Given the description of an element on the screen output the (x, y) to click on. 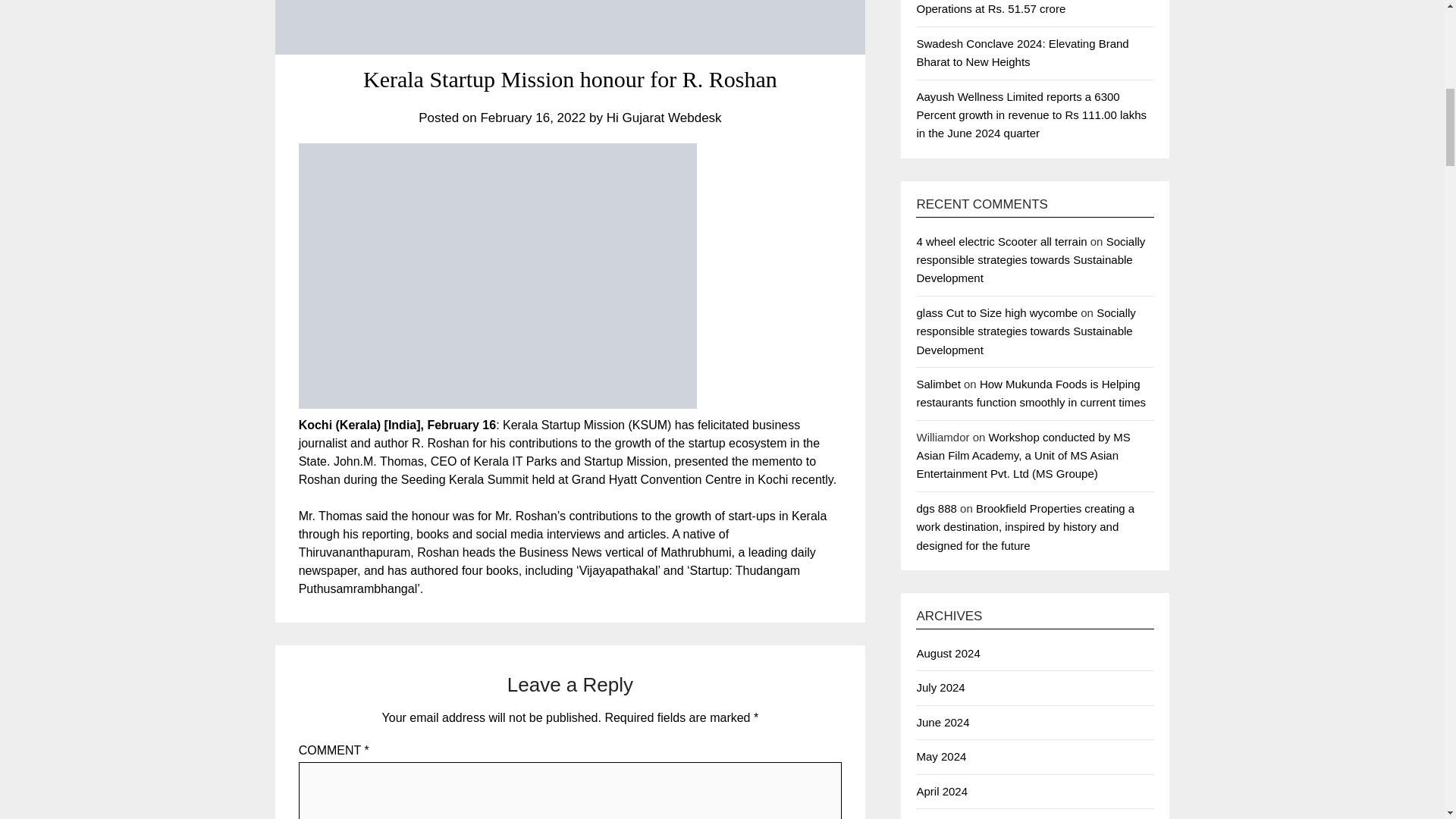
February 16, 2022 (532, 117)
dgs 888 (935, 508)
Salimbet (937, 383)
June 2024 (942, 721)
July 2024 (939, 686)
April 2024 (941, 790)
